Given the description of an element on the screen output the (x, y) to click on. 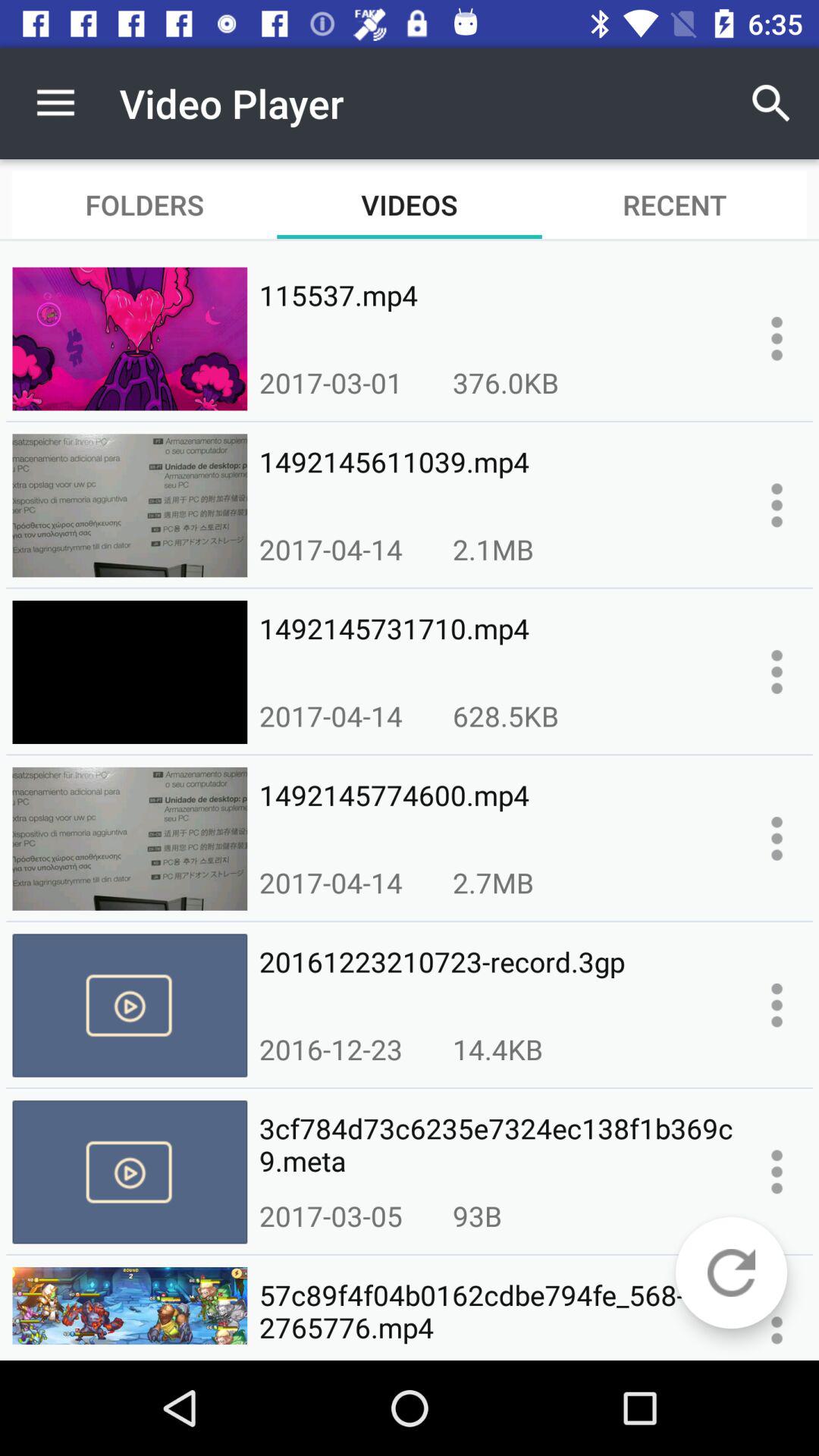
refresh current page (731, 1272)
